Given the description of an element on the screen output the (x, y) to click on. 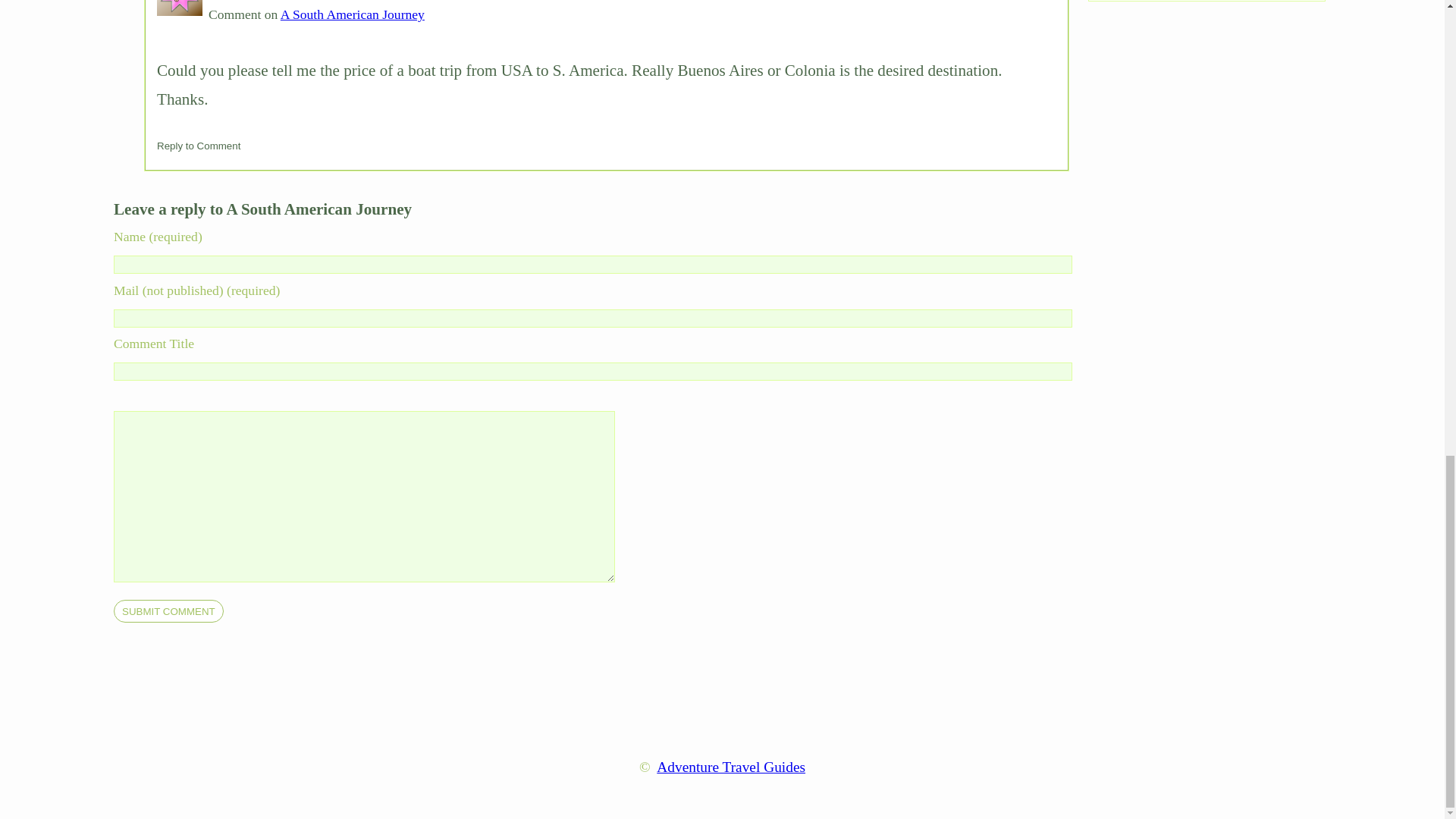
Submit Comment (168, 610)
Adventure Travel Guides (730, 766)
Submit Comment (168, 610)
A South American Journey (353, 14)
Advertisement (721, 695)
Reply to Comment (198, 145)
